Given the description of an element on the screen output the (x, y) to click on. 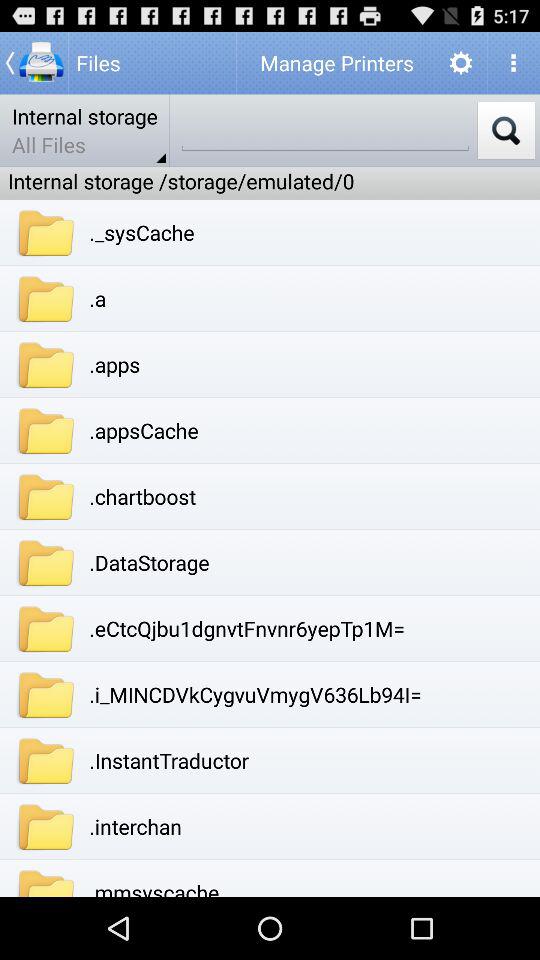
swipe until .datastorage app (149, 562)
